Given the description of an element on the screen output the (x, y) to click on. 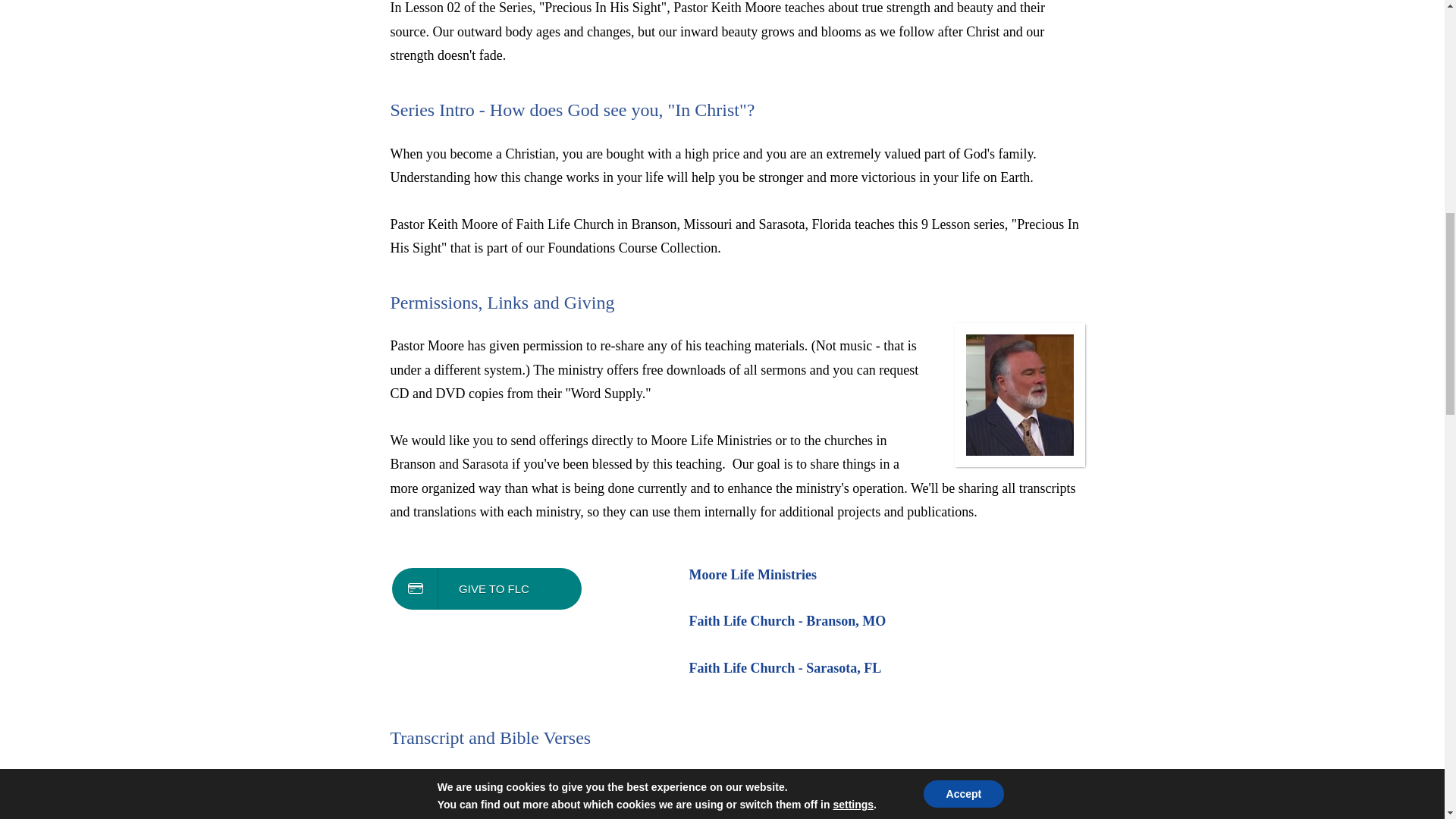
Moore Life Ministries (752, 574)
Faith Life Church - Sarasota, FL (784, 667)
GIVE TO FLC (485, 588)
Faith Life Church - Branson, MO (786, 620)
